Given the description of an element on the screen output the (x, y) to click on. 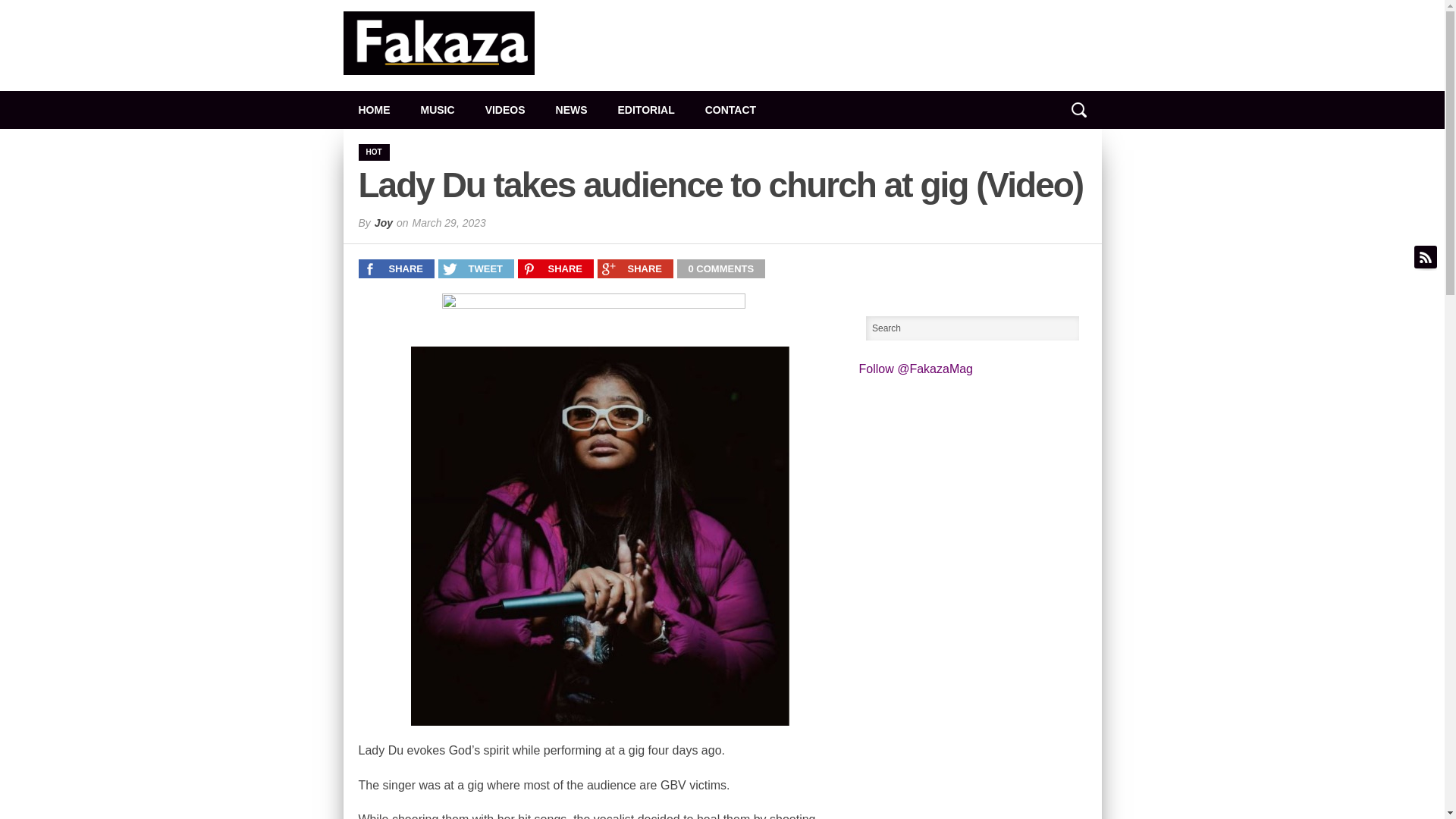
CONTACT (730, 109)
HOME (373, 109)
Search (973, 328)
NEWS (571, 109)
EDITORIAL (646, 109)
MUSIC (436, 109)
VIDEOS (505, 109)
